Given the description of an element on the screen output the (x, y) to click on. 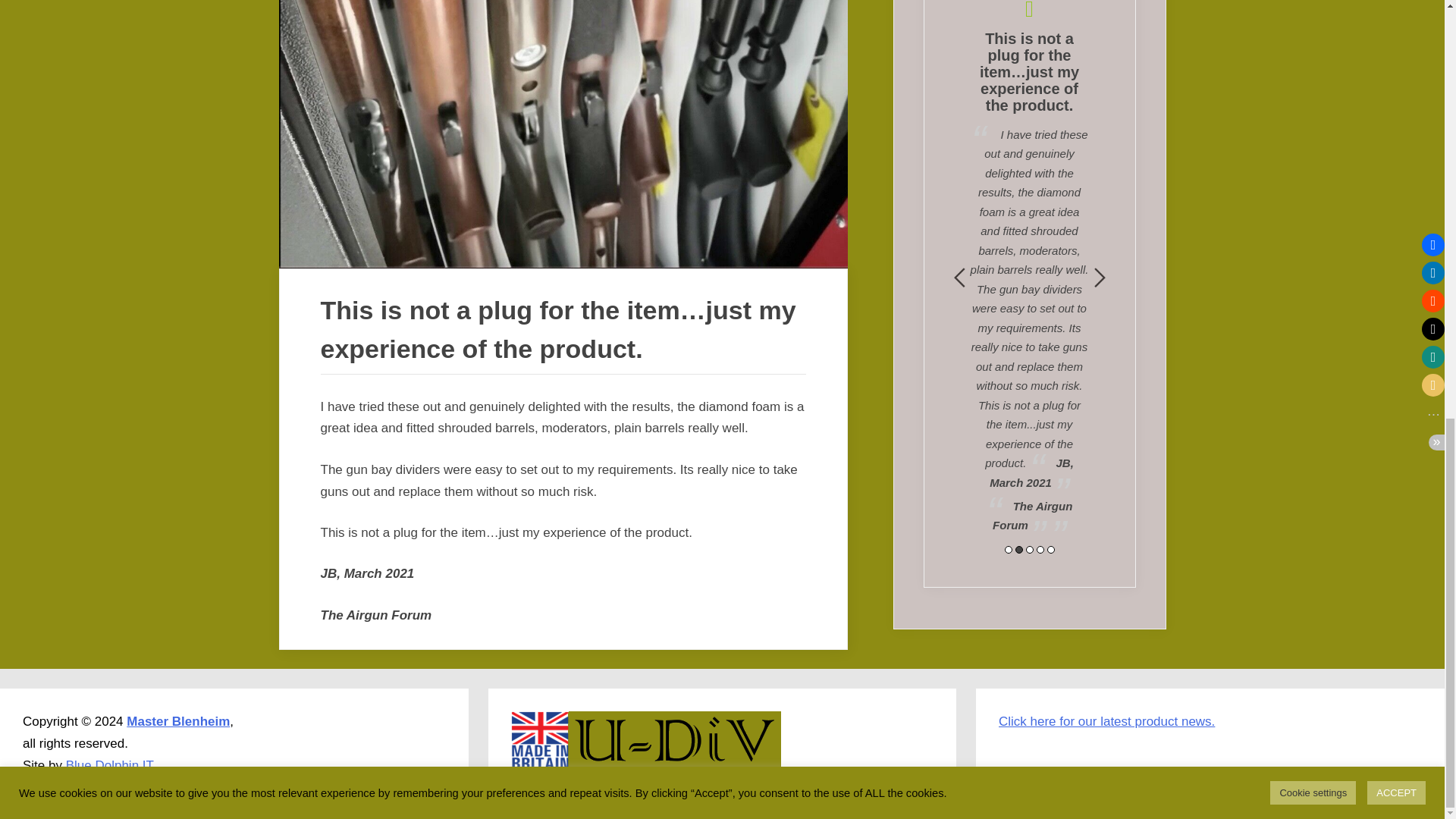
2 (1018, 549)
Contact Us (1106, 721)
3 (1028, 549)
4 (1039, 549)
1 (1007, 549)
